Given the description of an element on the screen output the (x, y) to click on. 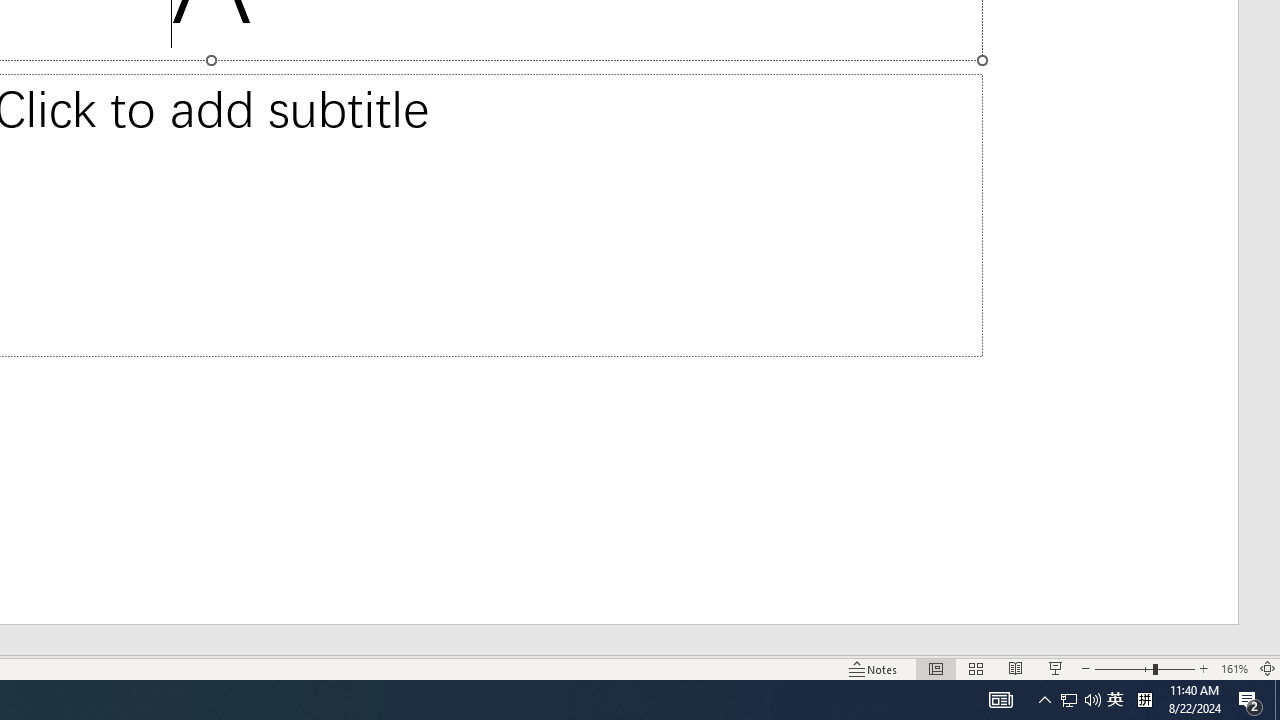
Zoom 161% (1234, 668)
